Given the description of an element on the screen output the (x, y) to click on. 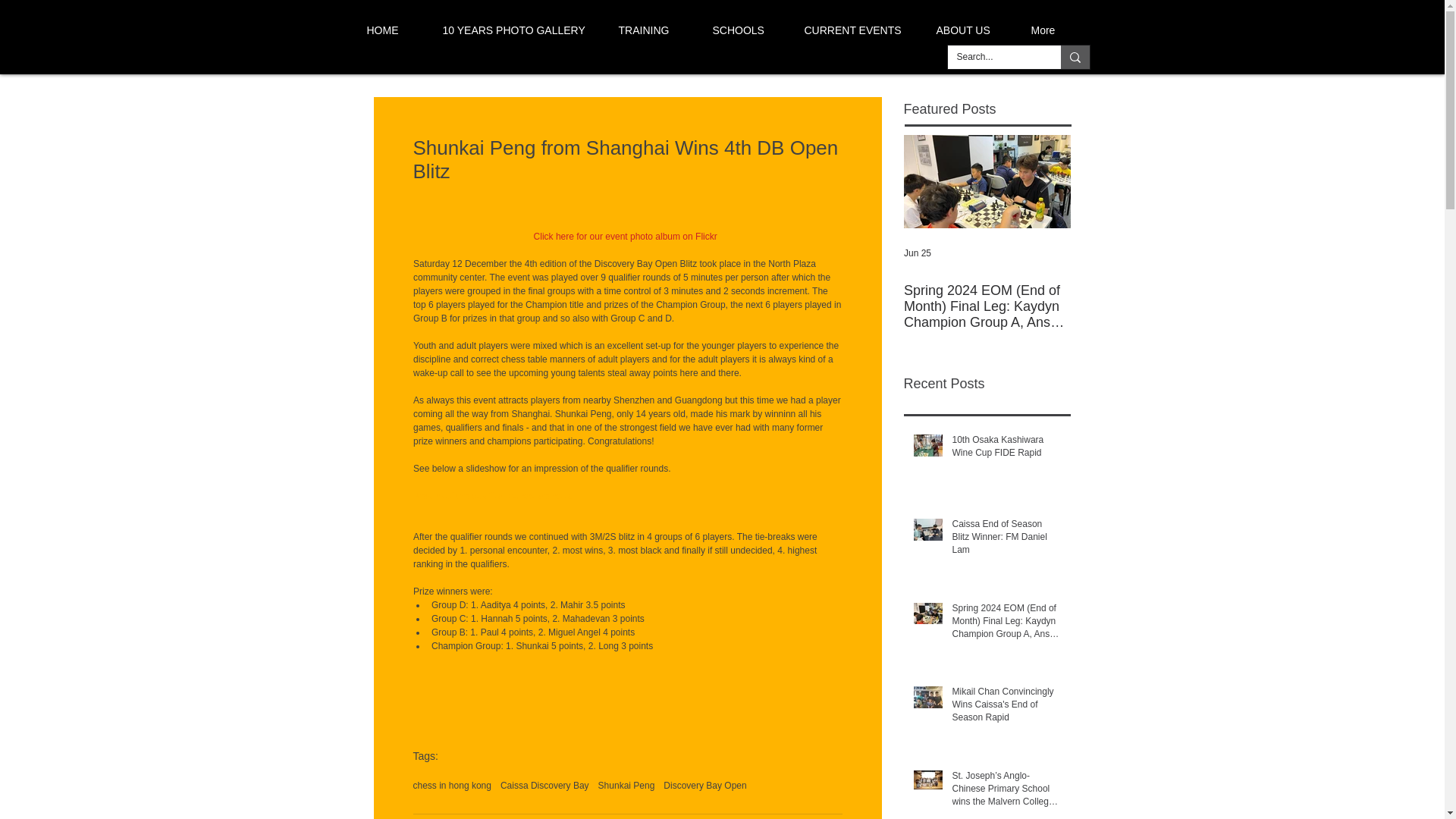
10 YEARS PHOTO GALLERY (514, 29)
Results of the qualifier rounds are here. (492, 495)
Jun 25 (917, 253)
CURRENT EVENTS (854, 29)
Click here for our event photo album on Flickr  (625, 235)
SCHOOLS (741, 29)
HOME (388, 29)
TRAINING (648, 29)
Jun 18 (1083, 253)
chess in hong kong (451, 785)
